Given the description of an element on the screen output the (x, y) to click on. 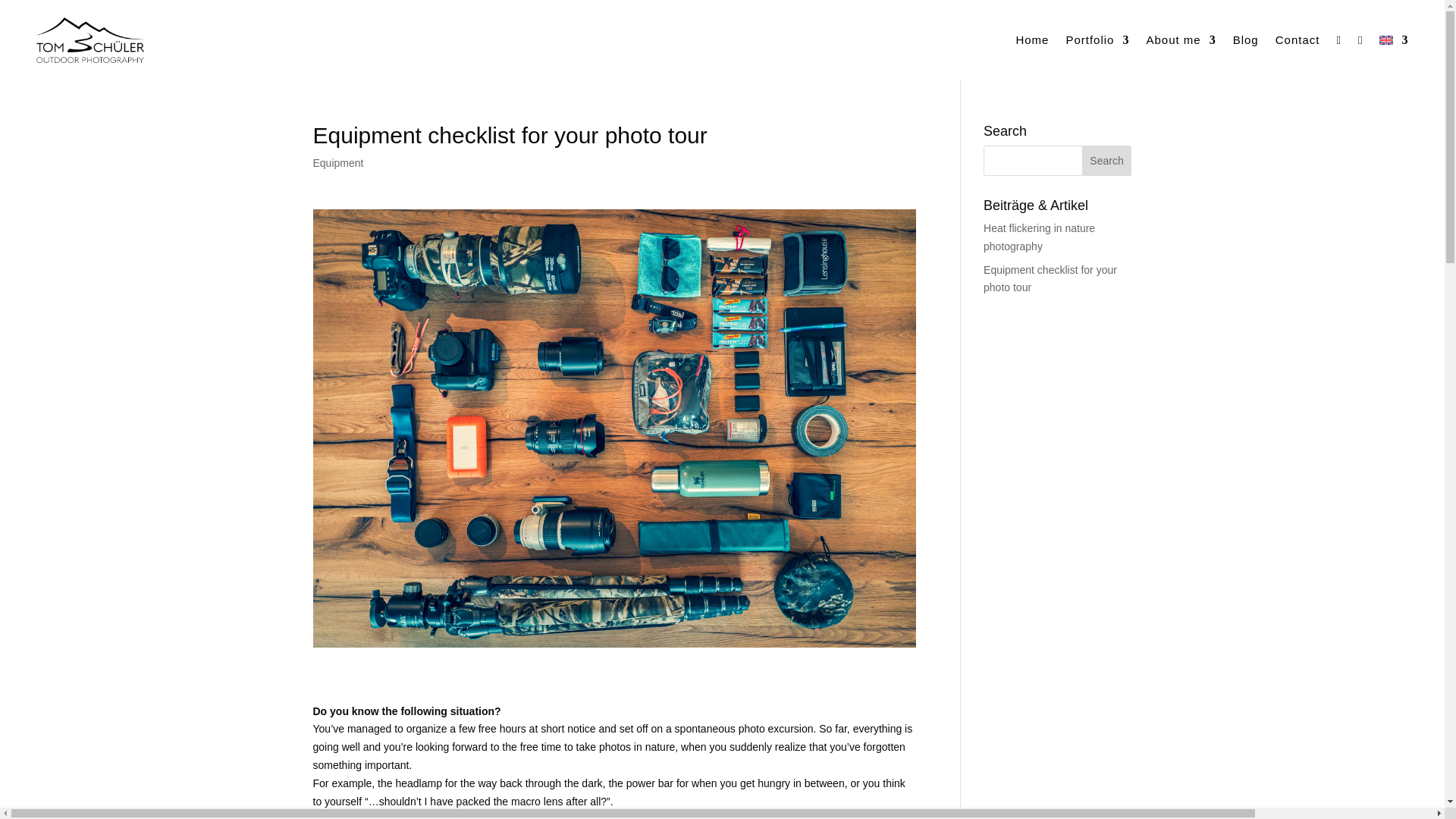
Equipment (337, 162)
Search (1106, 160)
Heat flickering in nature photography (1039, 236)
Portfolio (1097, 39)
Equipment checklist for your photo tour (1050, 278)
About me (1180, 39)
Search (1106, 160)
